Given the description of an element on the screen output the (x, y) to click on. 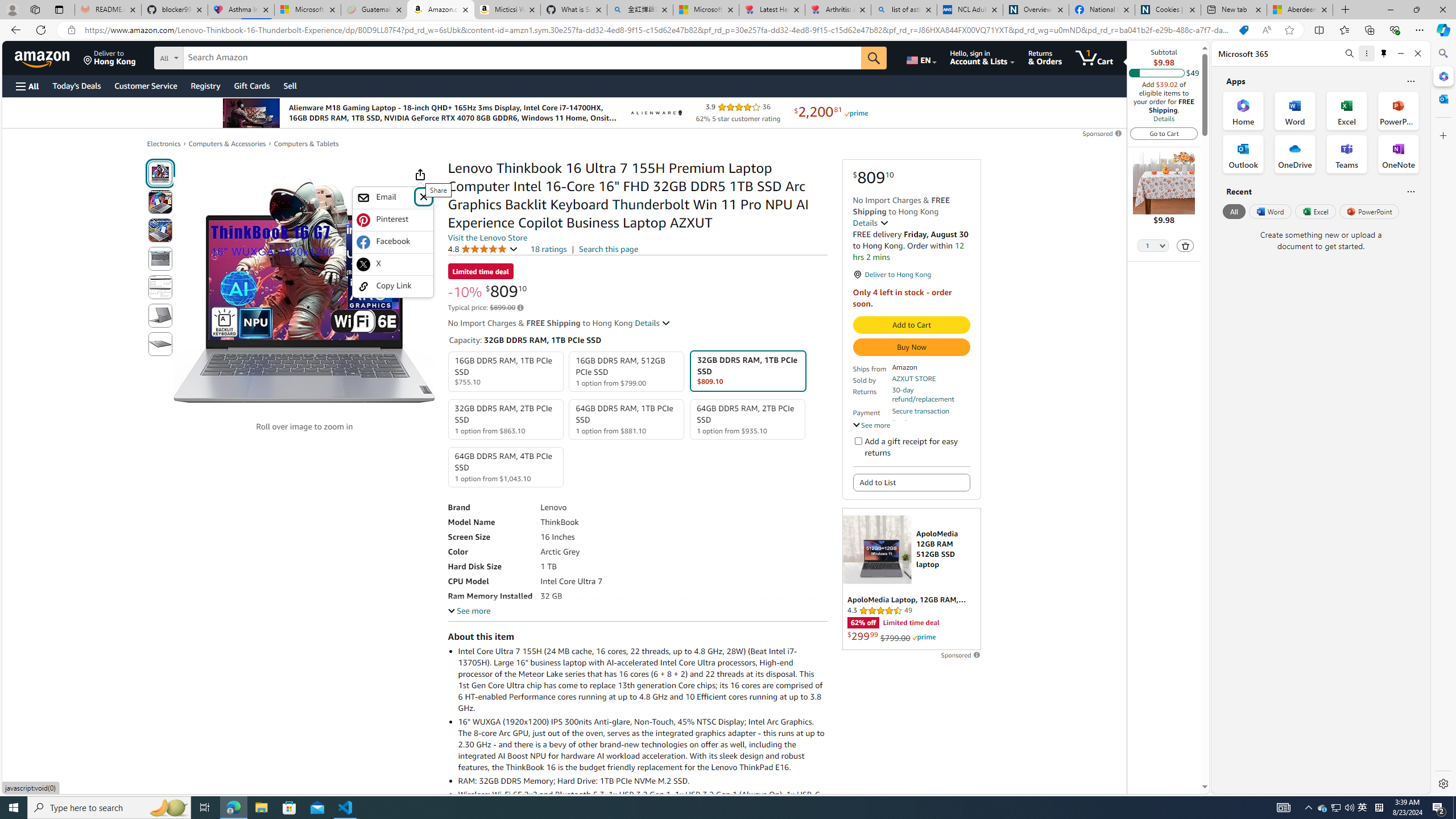
16GB DDR5 RAM, 1TB PCIe SSD $755.10 (505, 371)
Facebook (392, 241)
AZXUT STORE (913, 378)
64GB DDR5 RAM, 1TB PCIe SSD 1 option from $881.10 (626, 418)
X (392, 264)
64GB DDR5 RAM, 2TB PCIe SSD 1 option from $935.10 (747, 418)
Aberdeen, Hong Kong SAR hourly forecast | Microsoft Weather (1300, 9)
Add to List (911, 482)
